Given the description of an element on the screen output the (x, y) to click on. 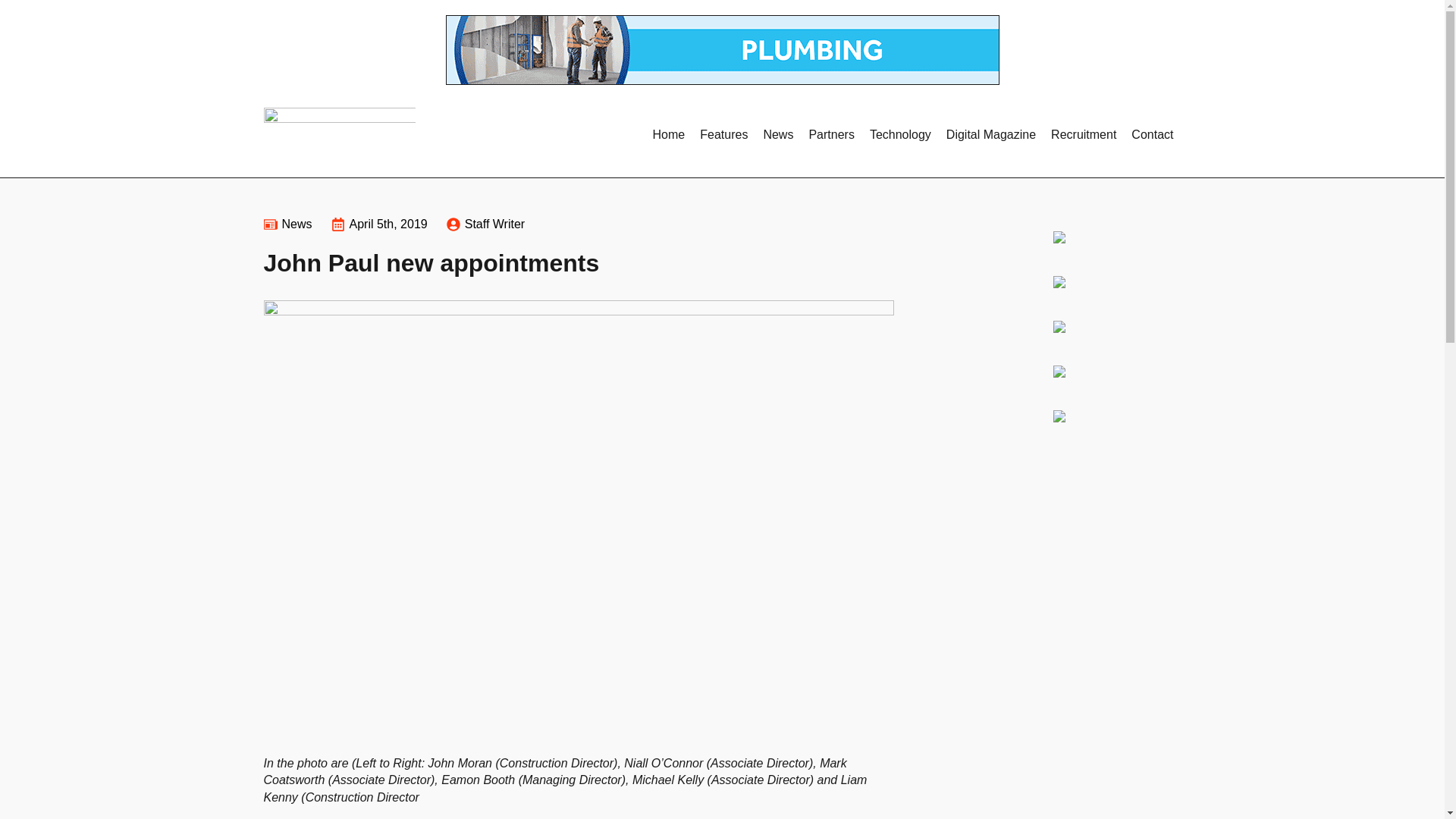
Digital Magazine (991, 134)
Contact (1152, 134)
Partners (830, 134)
Page 4 (578, 780)
Recruitment (1083, 134)
Technology (900, 134)
Page 4 (578, 787)
News (297, 224)
News (777, 134)
Home (669, 134)
